Given the description of an element on the screen output the (x, y) to click on. 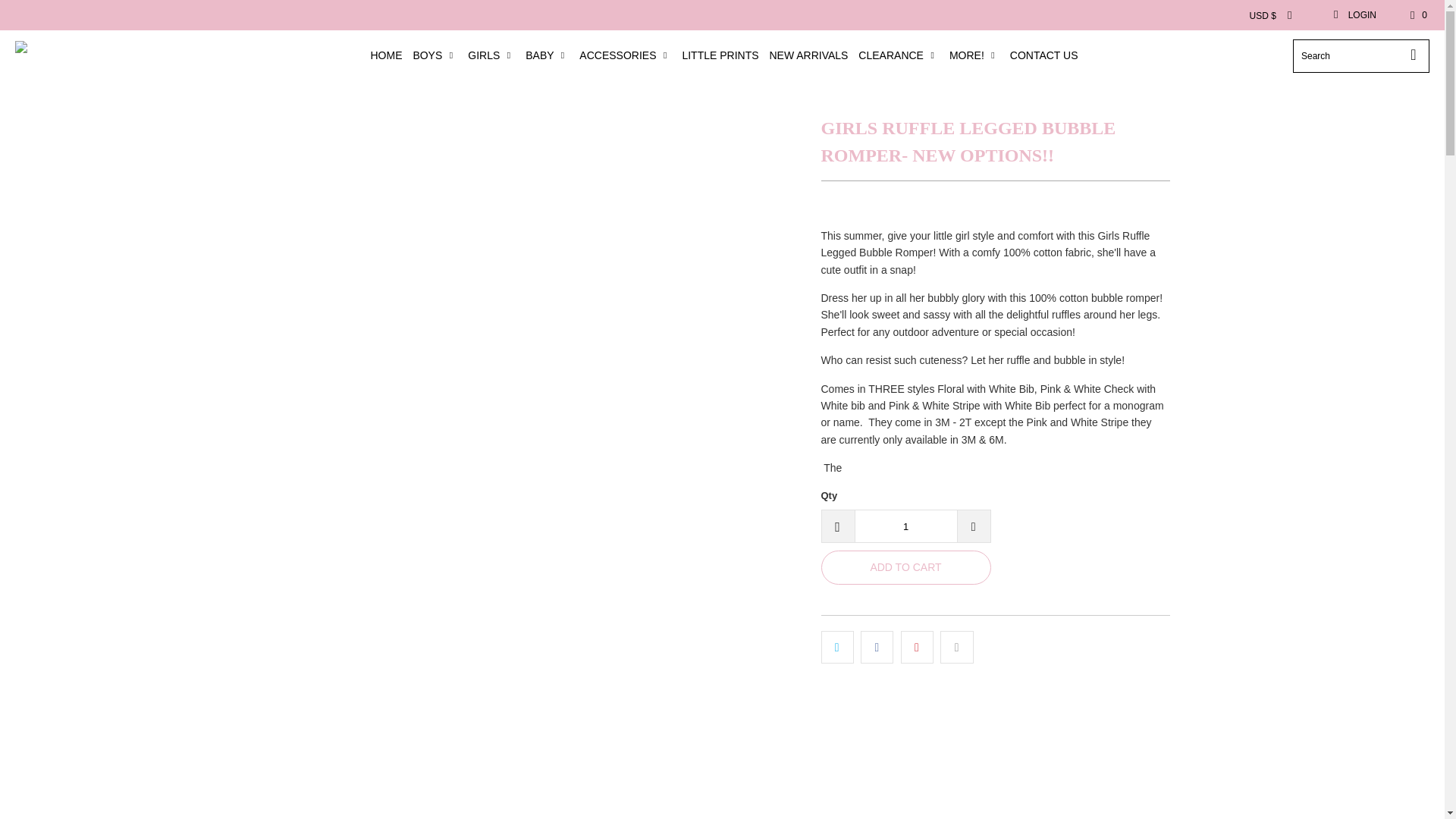
Little Blanks, LLC (84, 55)
My Account  (1353, 15)
Share this on Facebook (876, 646)
Share this on Twitter (837, 646)
1 (904, 525)
Share this on Pinterest (917, 646)
Email this to a friend (956, 646)
